Given the description of an element on the screen output the (x, y) to click on. 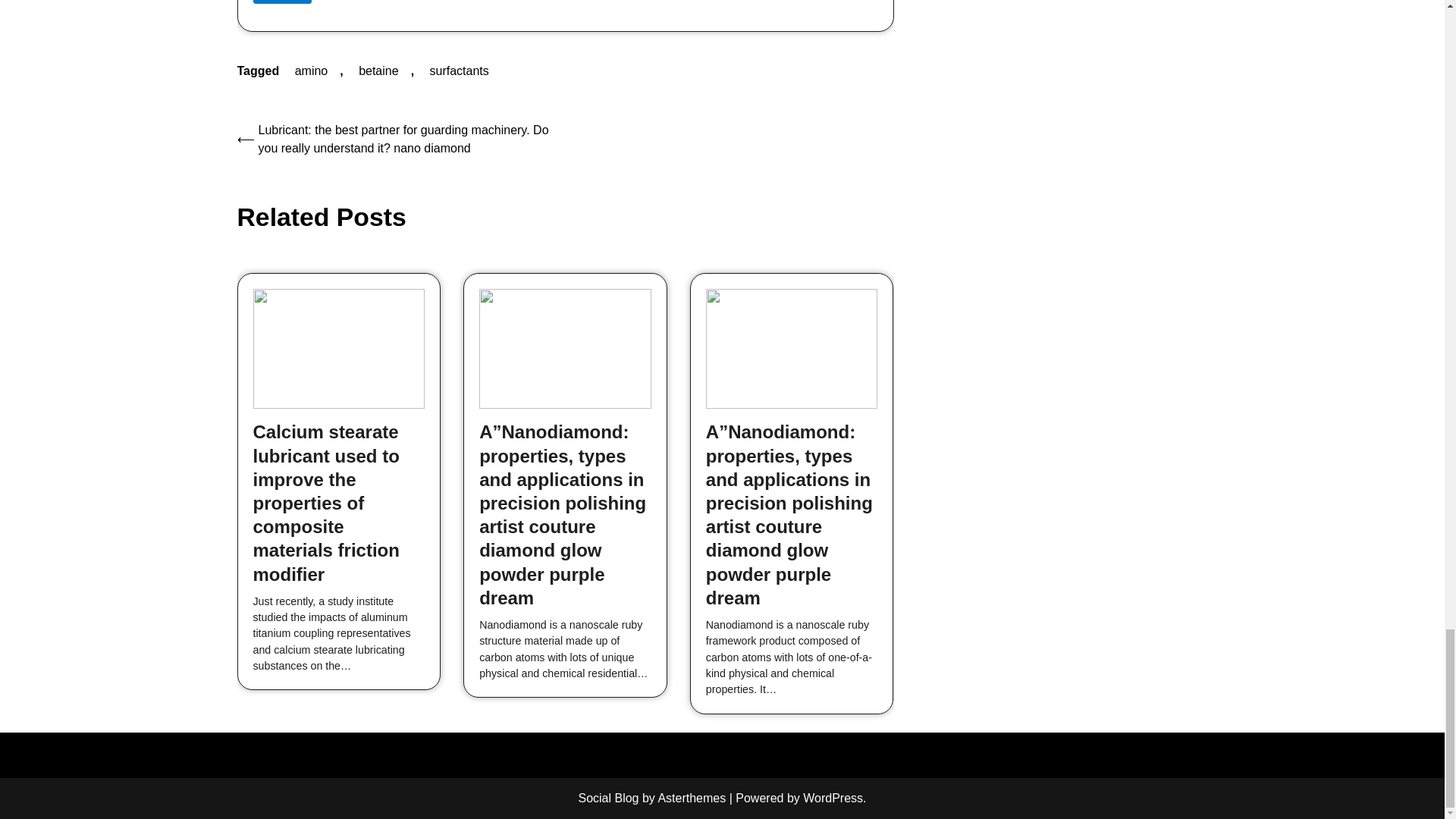
surfactants (459, 70)
submit (282, 1)
betaine (378, 70)
submit (282, 1)
amino (311, 70)
